Given the description of an element on the screen output the (x, y) to click on. 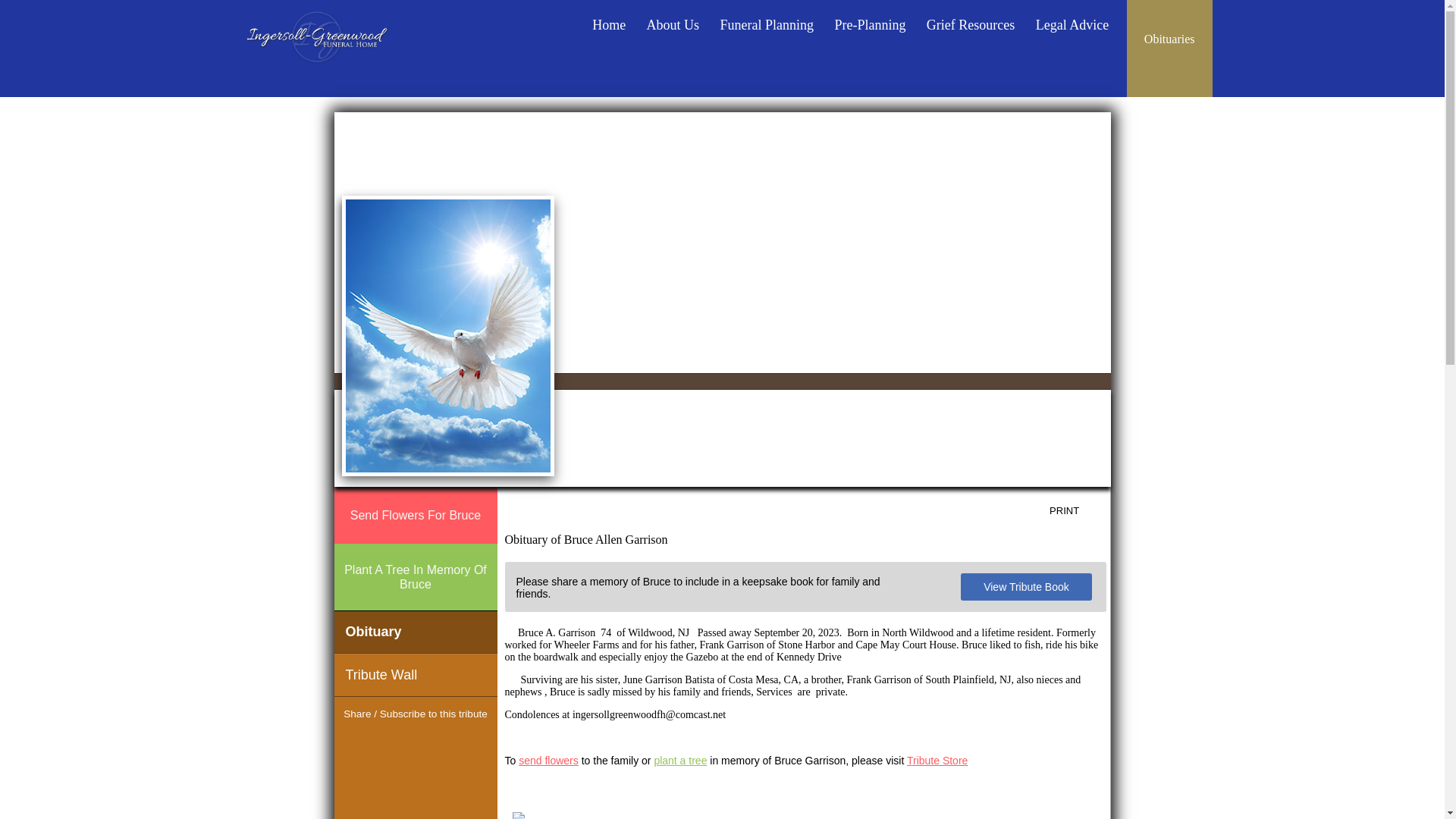
Home (608, 20)
Twitter (415, 743)
Grief Resources (971, 20)
Print (1075, 511)
SIGN IN (1080, 128)
Funeral Planning (767, 20)
About Us (673, 20)
Receive Notifications (442, 743)
Plant A Tree (414, 576)
Pre-Planning (870, 20)
Legal Advice (1072, 20)
Obituaries (1169, 38)
Facebook (387, 743)
